Given the description of an element on the screen output the (x, y) to click on. 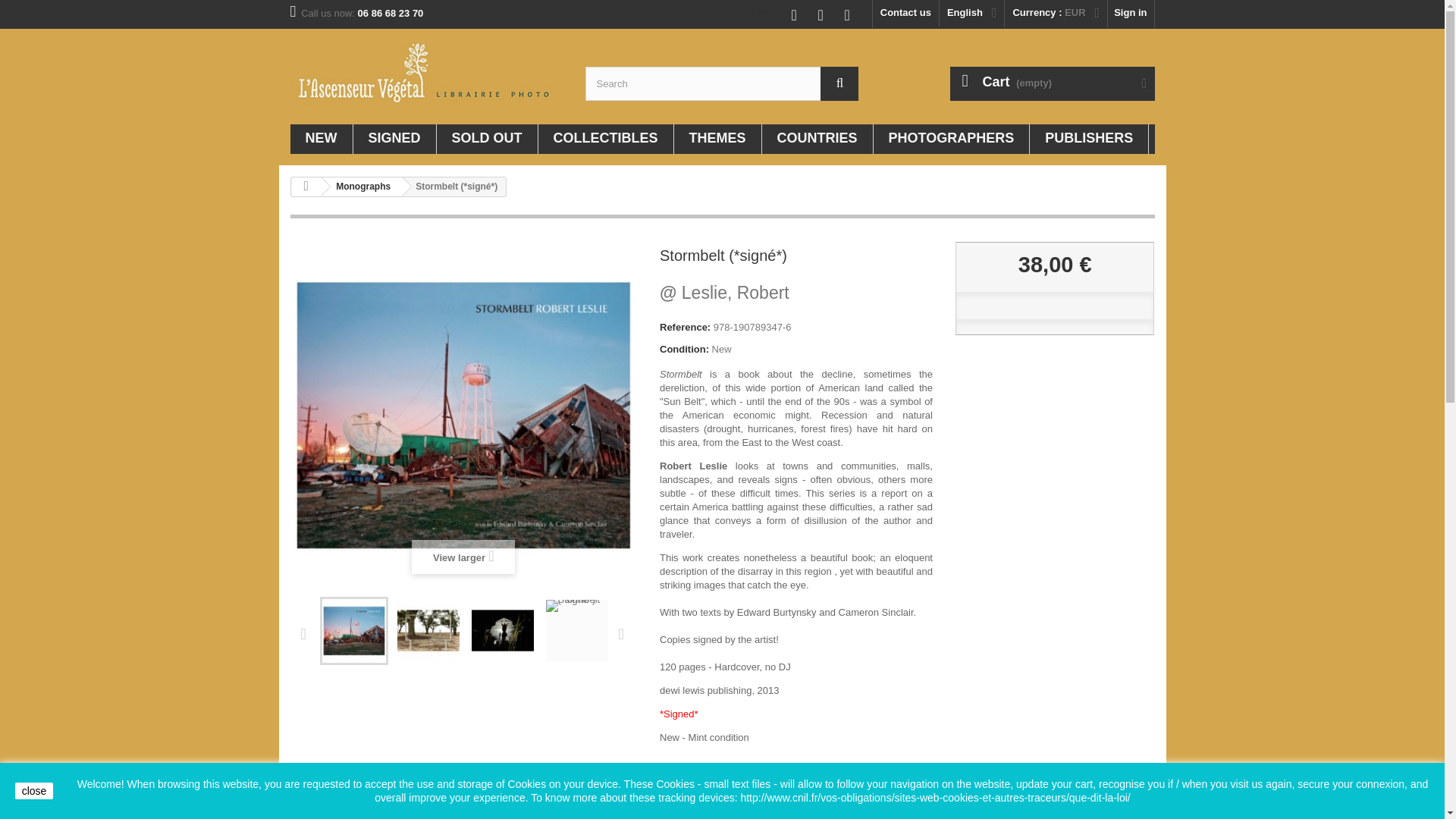
View my shopping cart (1051, 83)
SOLD OUT (486, 138)
COLLECTIBLES (605, 138)
Contact us (905, 13)
signed (394, 138)
Sign in (1130, 13)
Contact us (905, 13)
NEW (320, 138)
THEMES (717, 138)
COUNTRIES (816, 138)
New (320, 138)
Log in to your customer account (1130, 13)
SIGNED (394, 138)
Follow us (759, 10)
